Given the description of an element on the screen output the (x, y) to click on. 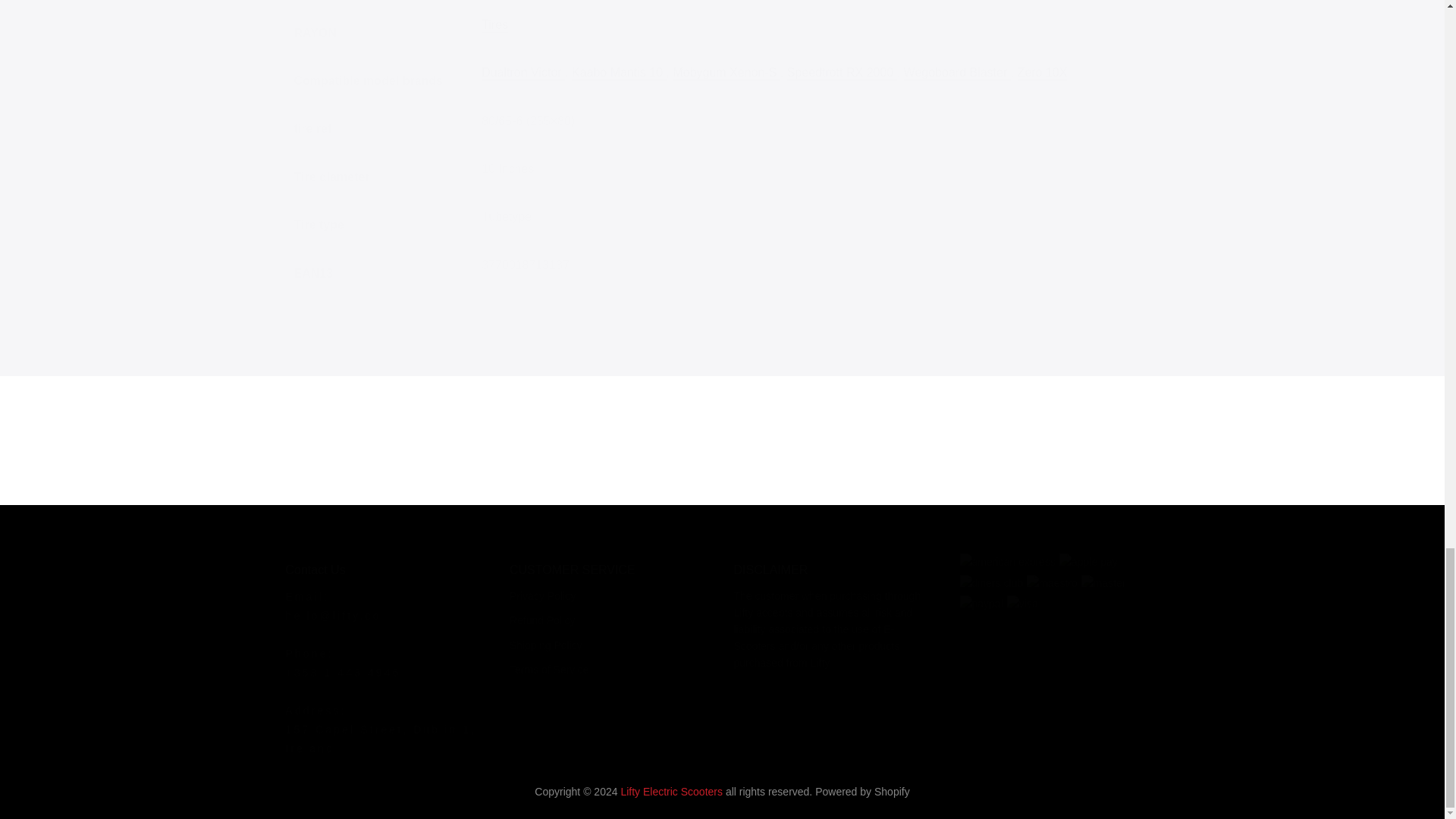
Dualtron Victor (522, 73)
Kaabo Mantis 10 (619, 73)
Tires (494, 25)
Mobygum Xenon-S (725, 73)
